Given the description of an element on the screen output the (x, y) to click on. 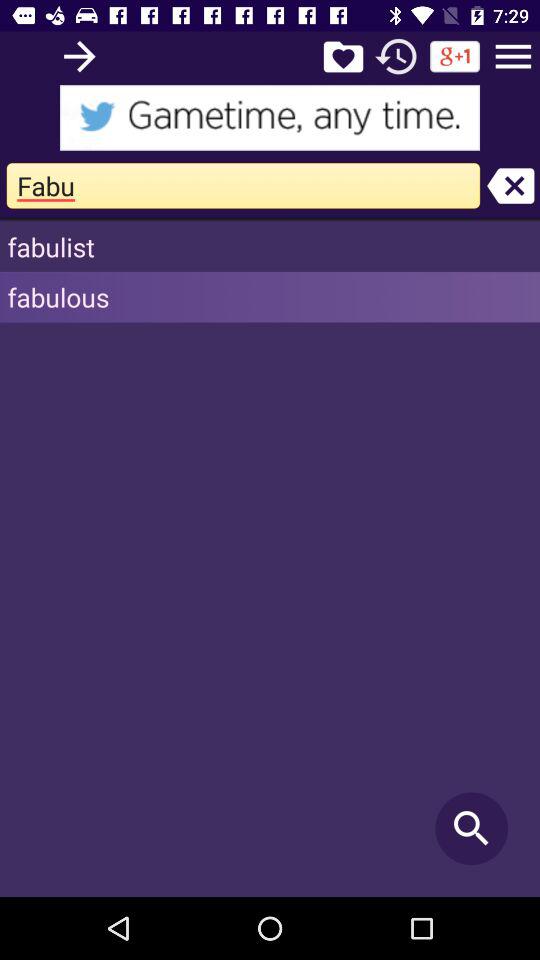
go for next (79, 56)
